Given the description of an element on the screen output the (x, y) to click on. 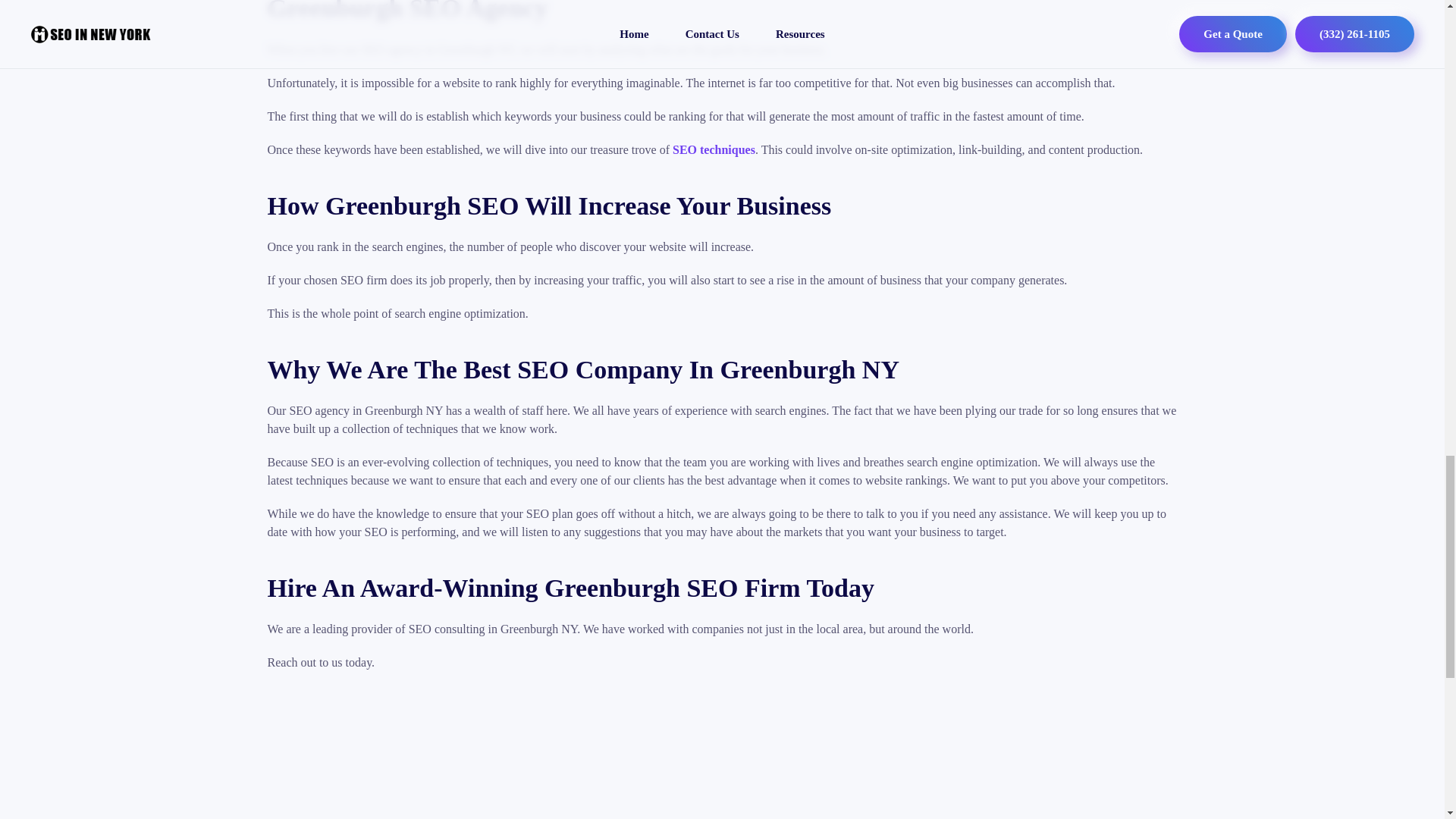
SEO techniques (713, 149)
